Given the description of an element on the screen output the (x, y) to click on. 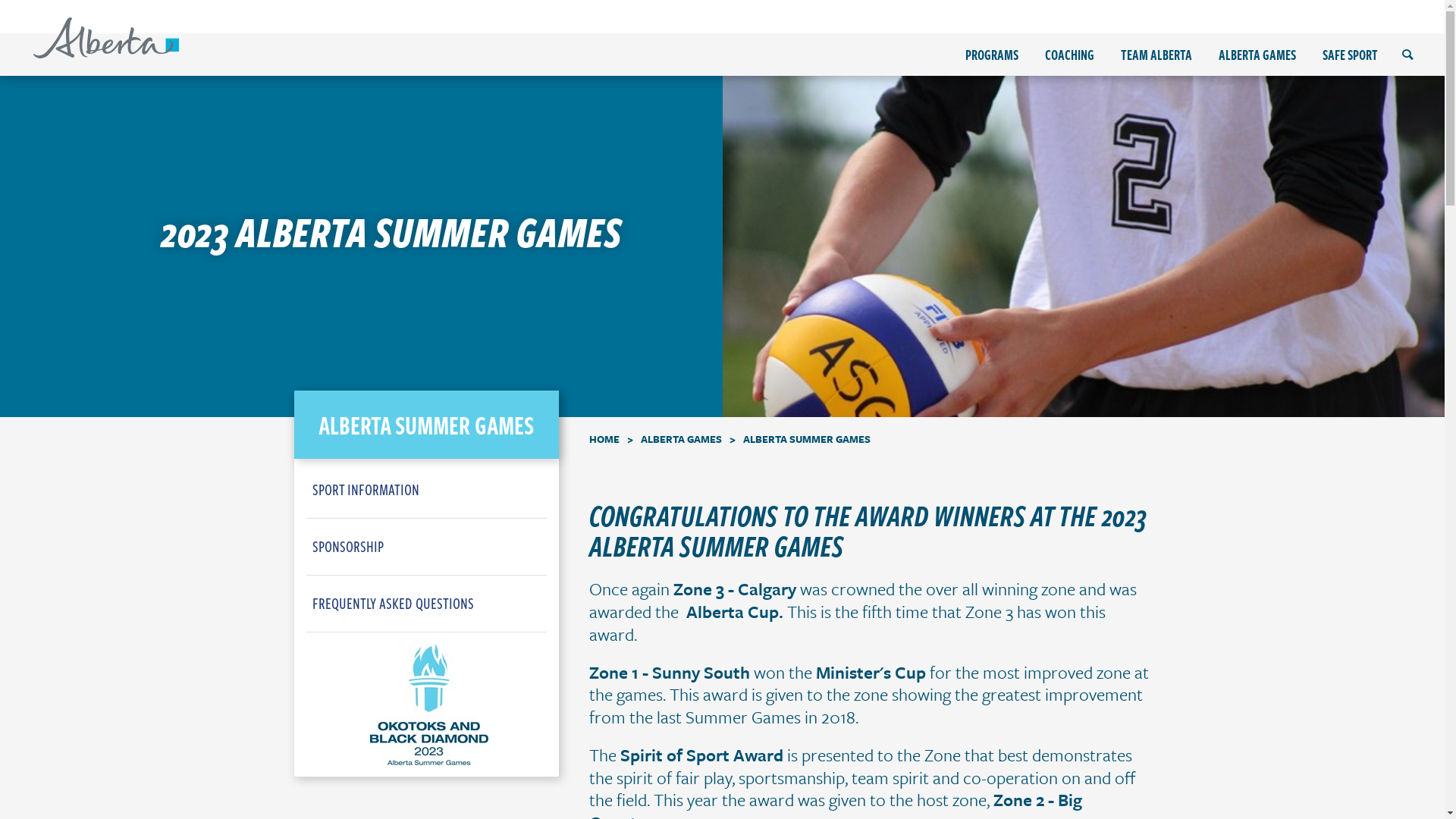
ALBERTA GAMES Element type: text (1257, 54)
SPORT INFORMATION Element type: text (429, 489)
PROGRAMS Element type: text (991, 54)
ALBERTA SUMMER GAMES Element type: text (425, 424)
SAFE SPORT Element type: text (1350, 54)
HOME Element type: text (604, 437)
Home Element type: text (105, 37)
ALBERTA GAMES Element type: text (680, 437)
SPONSORSHIP Element type: text (429, 546)
Skip to content Element type: text (0, 0)
TEAM ALBERTA Element type: text (1156, 54)
COACHING Element type: text (1069, 54)
FREQUENTLY ASKED QUESTIONS Element type: text (429, 603)
